Given the description of an element on the screen output the (x, y) to click on. 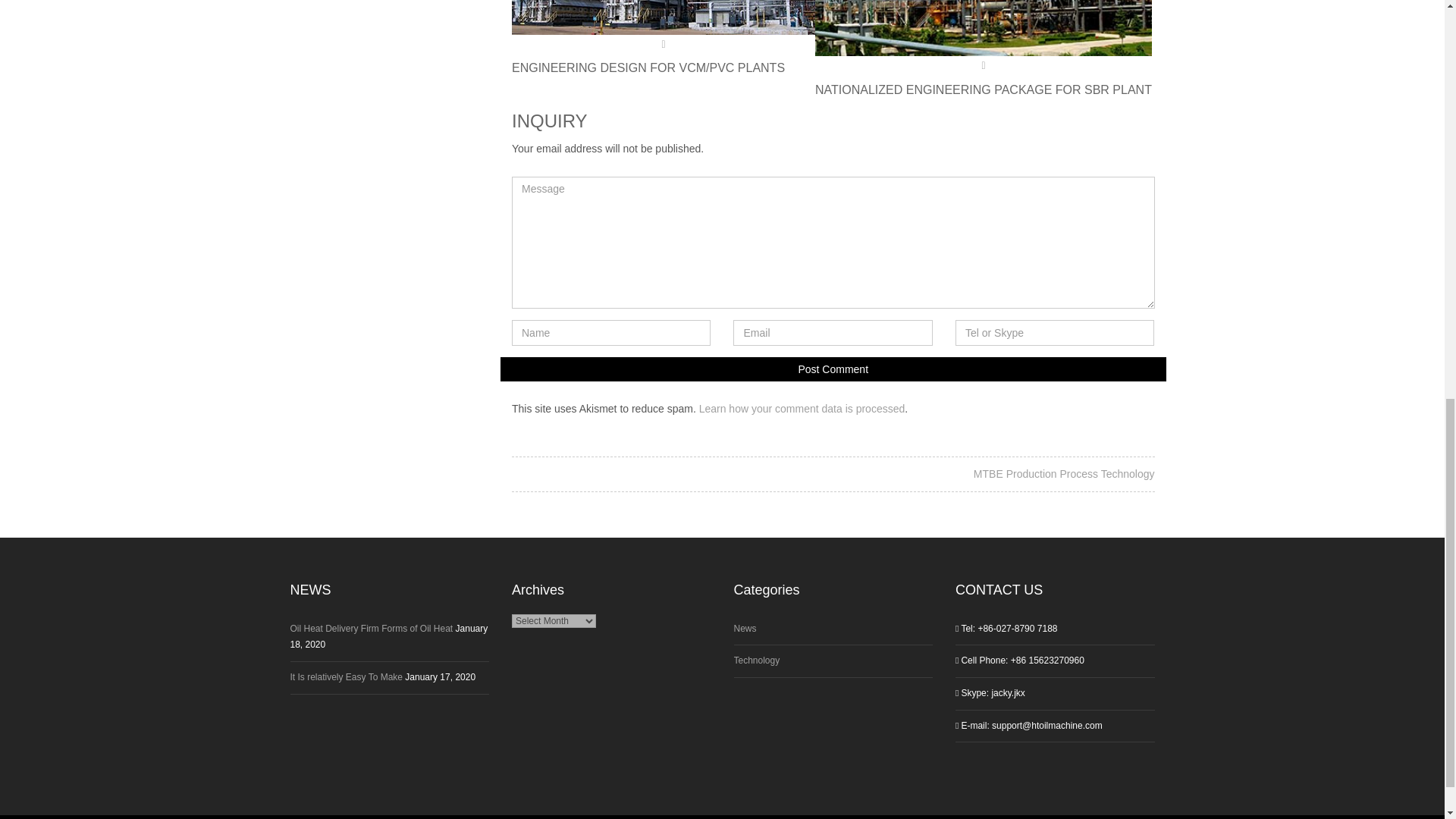
Post Comment (833, 369)
Post Comment (833, 369)
Learn how your comment data is processed (801, 408)
News (745, 628)
Oil Heat Delivery Firm Forms of Oil Heat (370, 628)
MTBE Production Process Technology (1064, 473)
Technology (756, 660)
It Is relatively Easy To Make (346, 676)
NATIONALIZED ENGINEERING PACKAGE FOR SBR PLANT (983, 90)
